Given the description of an element on the screen output the (x, y) to click on. 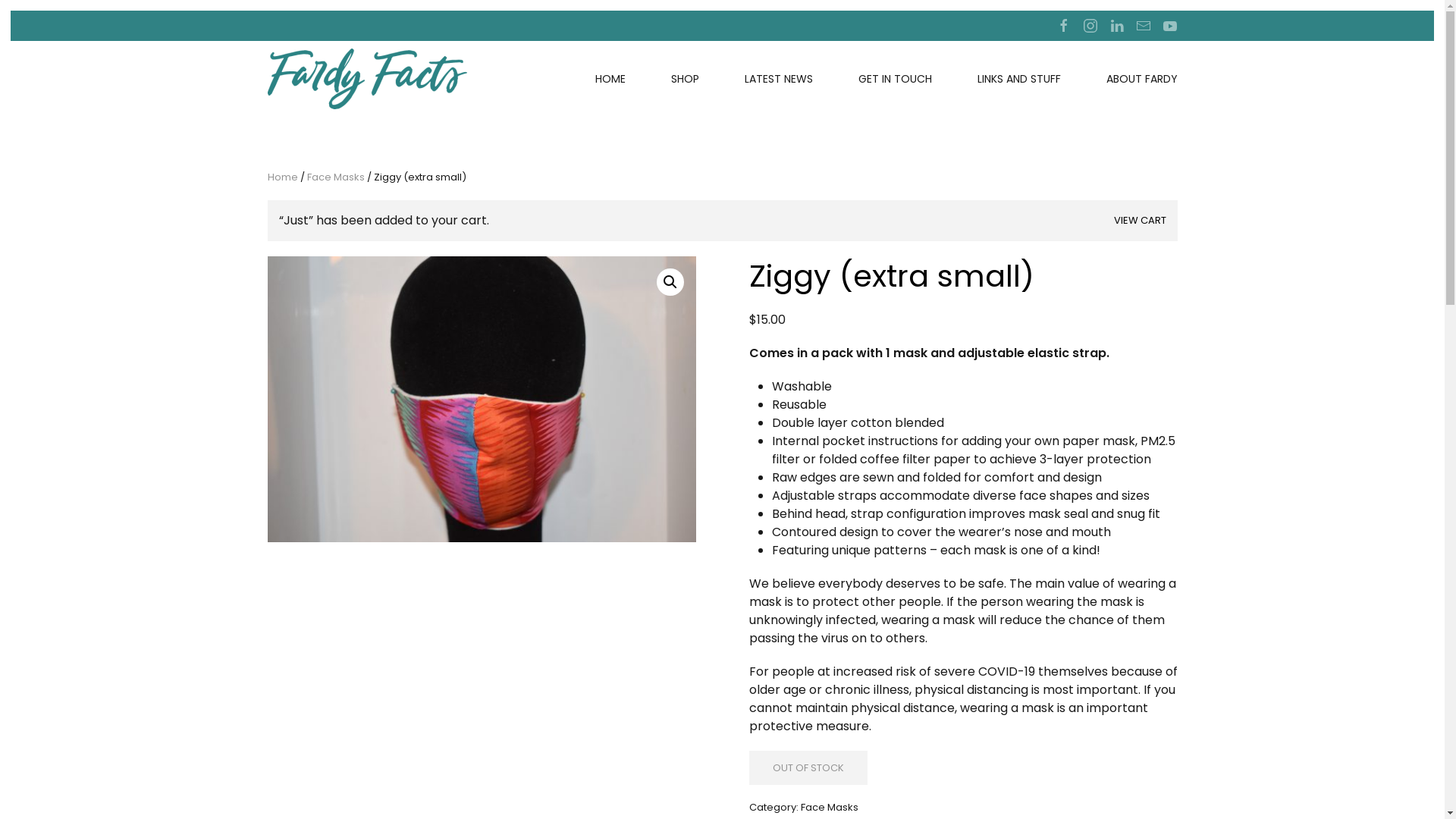
SHOP Element type: text (684, 78)
LINKS AND STUFF Element type: text (1017, 78)
Home Element type: text (281, 176)
HOME Element type: text (609, 78)
LATEST NEWS Element type: text (778, 78)
VIEW CART Element type: text (1139, 220)
Face Masks Element type: text (829, 807)
GET IN TOUCH Element type: text (894, 78)
Face Masks Element type: text (335, 176)
DSC_0479[1] Element type: hover (480, 399)
ABOUT FARDY Element type: text (1140, 78)
